Given the description of an element on the screen output the (x, y) to click on. 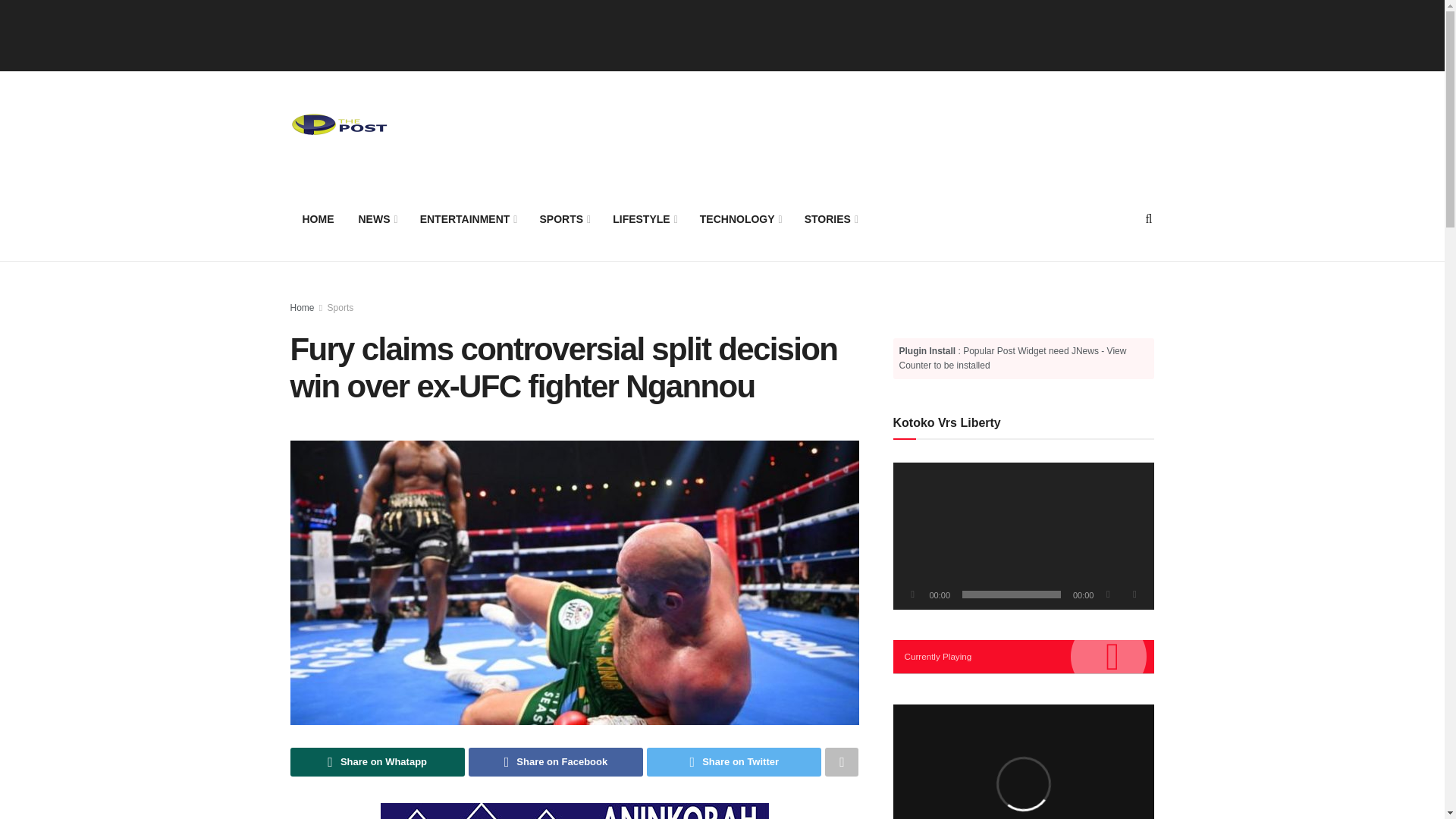
Mute (1107, 594)
HOME (317, 218)
NEWS (376, 218)
Fullscreen (1133, 594)
ENTERTAINMENT (467, 218)
Play (912, 594)
